Given the description of an element on the screen output the (x, y) to click on. 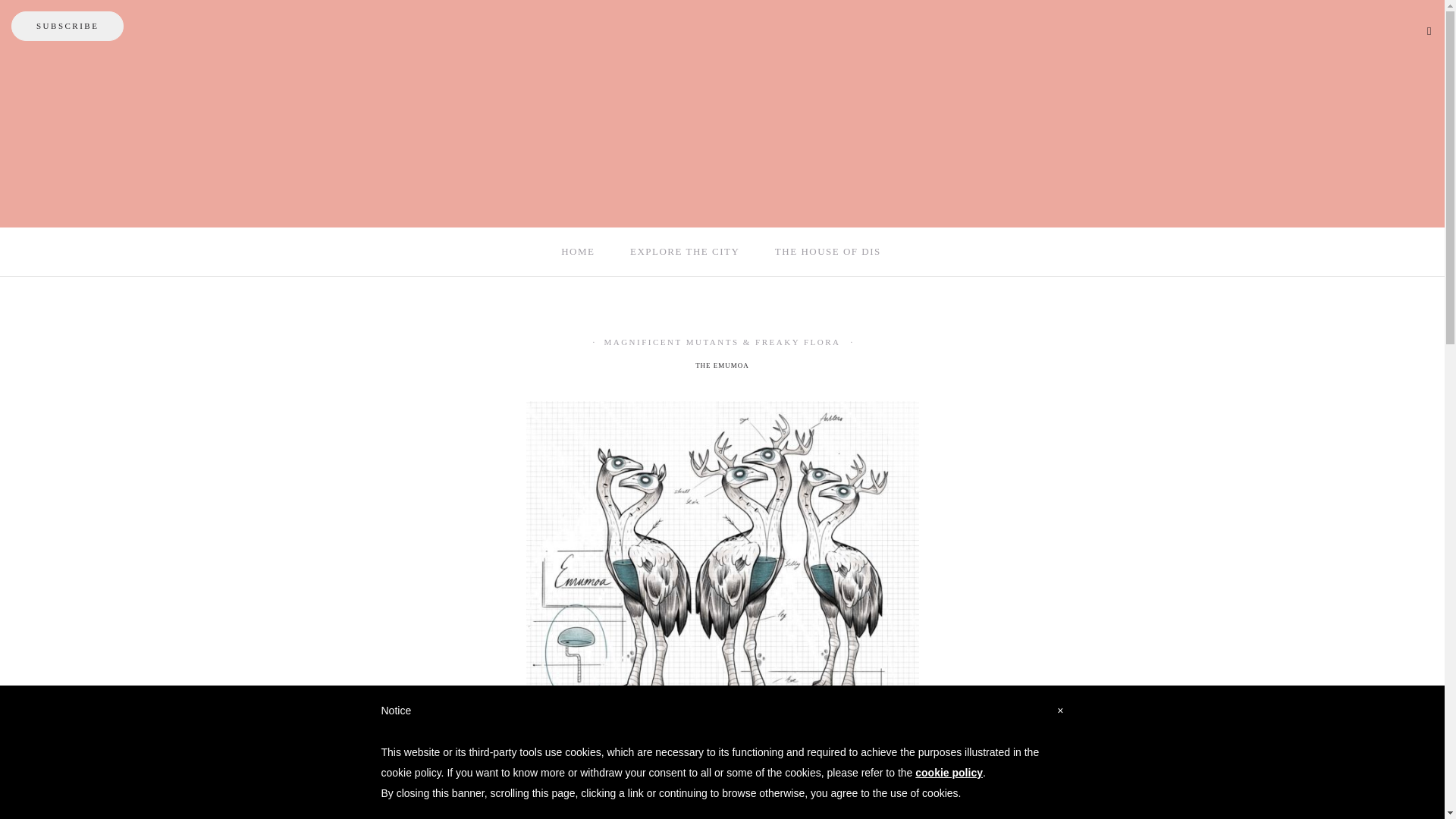
EXPLORE THE CITY (685, 251)
THE HOUSE OF DIS (829, 251)
HOME (578, 251)
SUBSCRIBE (67, 25)
